Given the description of an element on the screen output the (x, y) to click on. 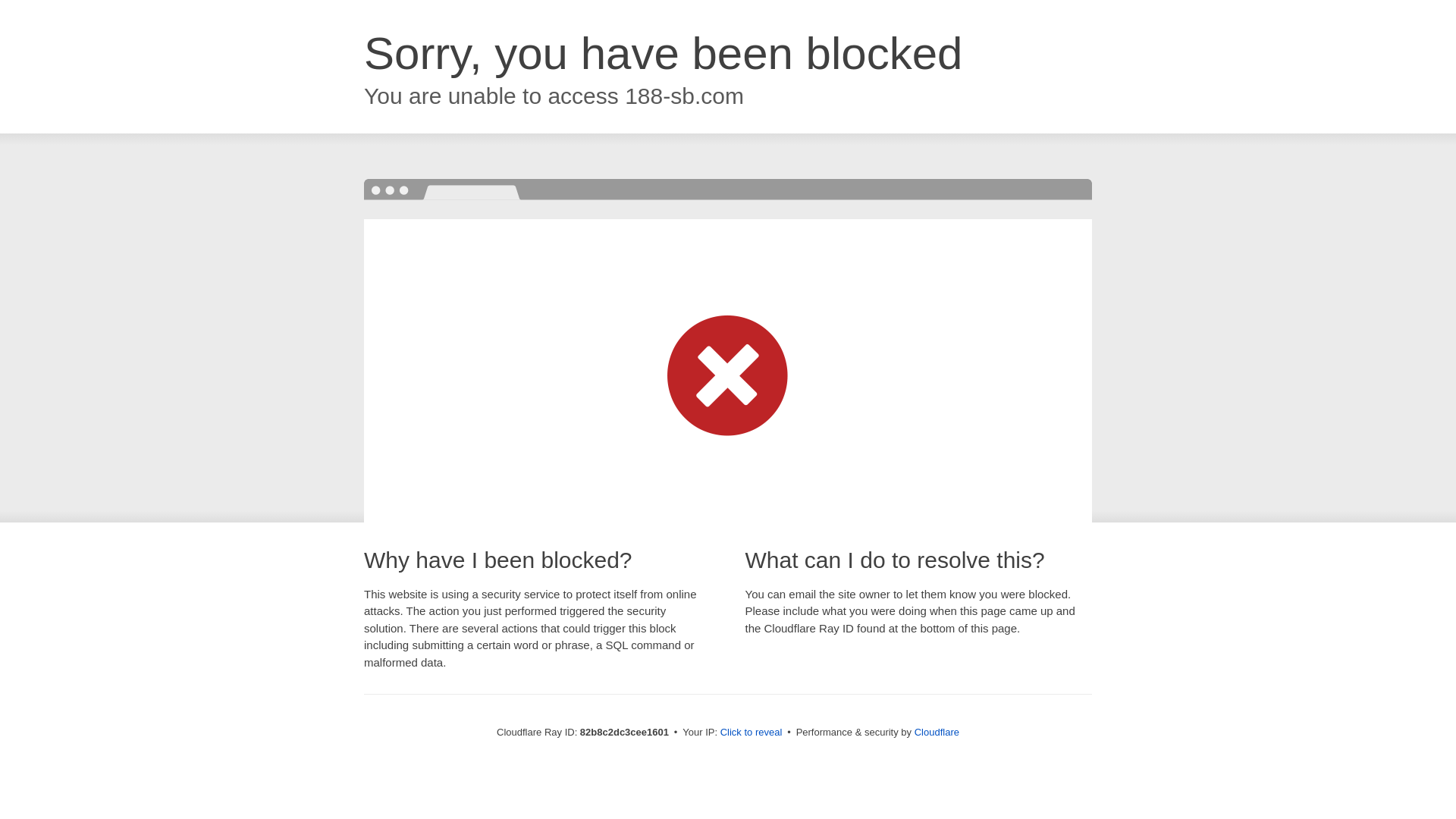
Cloudflare Element type: text (936, 731)
Click to reveal Element type: text (751, 732)
